Given the description of an element on the screen output the (x, y) to click on. 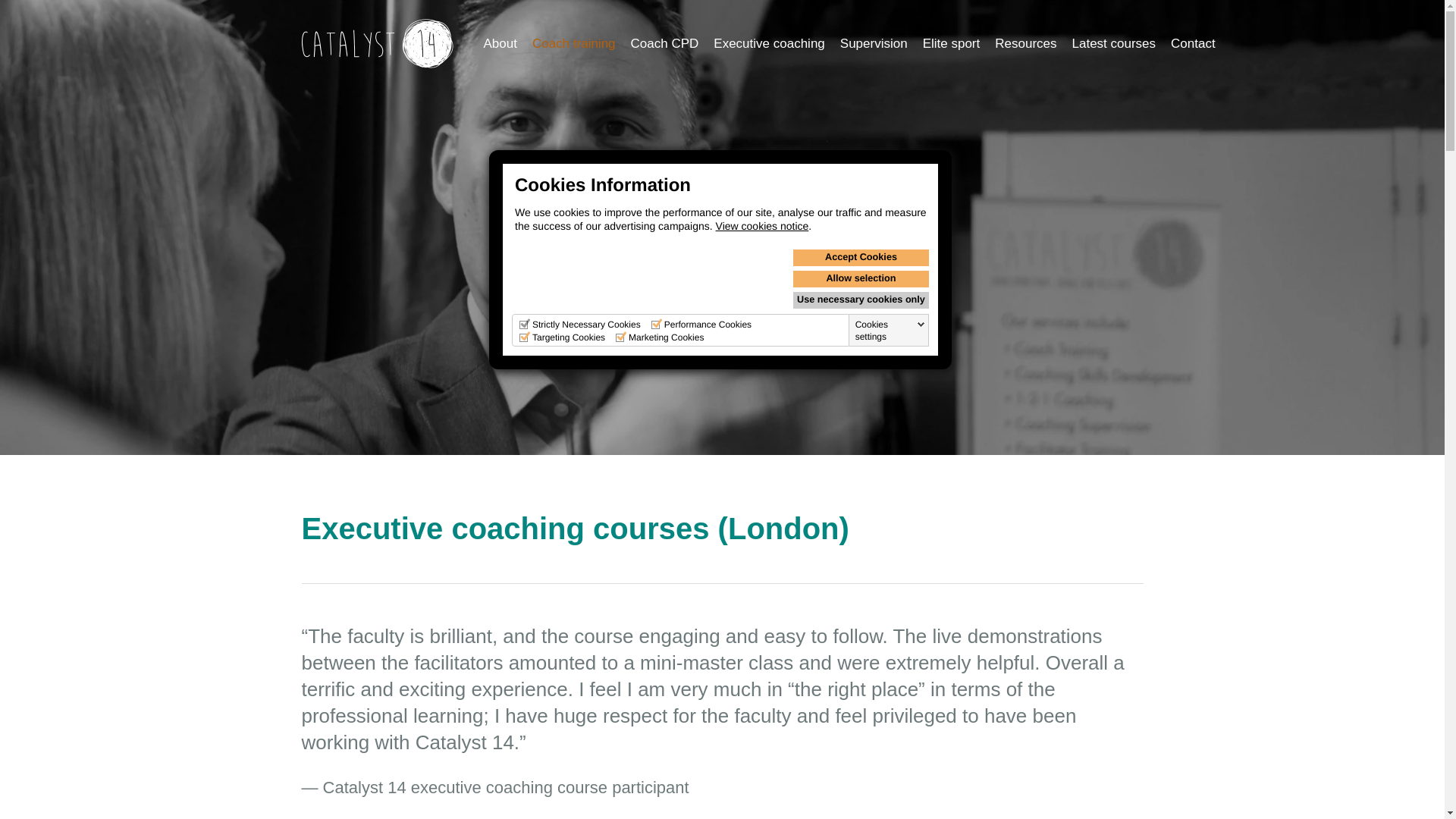
Accept Cookies (860, 257)
Use necessary cookies only (860, 299)
About (500, 43)
Cookies settings (889, 330)
Allow selection (860, 279)
View cookies notice (762, 225)
